Given the description of an element on the screen output the (x, y) to click on. 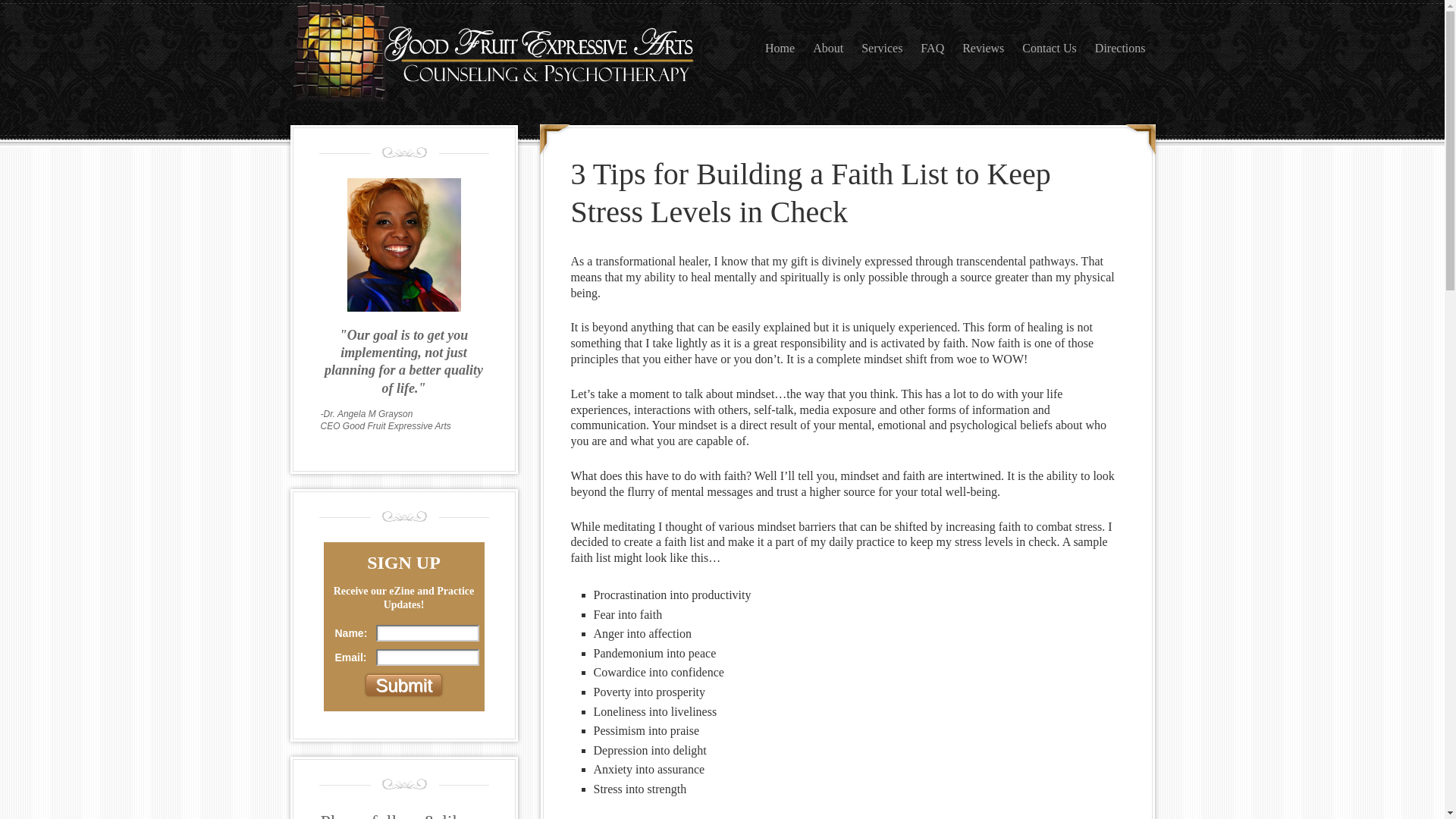
Contact Us Element type: text (1049, 48)
Directions Element type: text (1119, 48)
About Element type: text (827, 48)
Home Element type: text (779, 48)
Services Element type: text (881, 48)
Reviews Element type: text (983, 48)
Submit Element type: text (403, 685)
Good Fruit Expressive Arts Element type: text (441, 71)
FAQ Element type: text (932, 48)
